Given the description of an element on the screen output the (x, y) to click on. 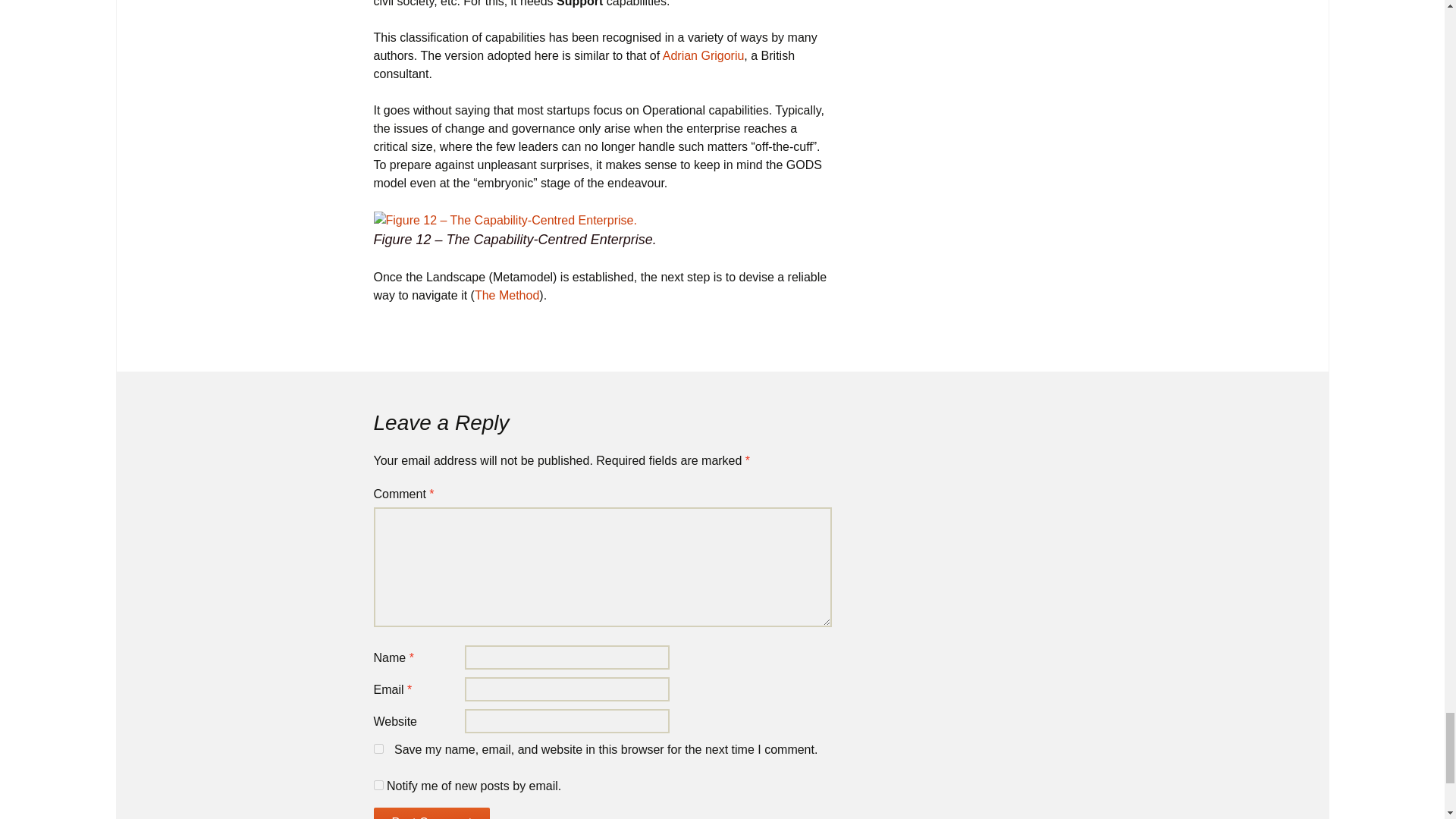
Adrian Grigoriu (703, 55)
yes (377, 748)
subscribe (377, 785)
Post Comment (430, 813)
The Method (506, 295)
Post Comment (430, 813)
The Method (506, 295)
Adrian Grigoriu (703, 55)
